Given the description of an element on the screen output the (x, y) to click on. 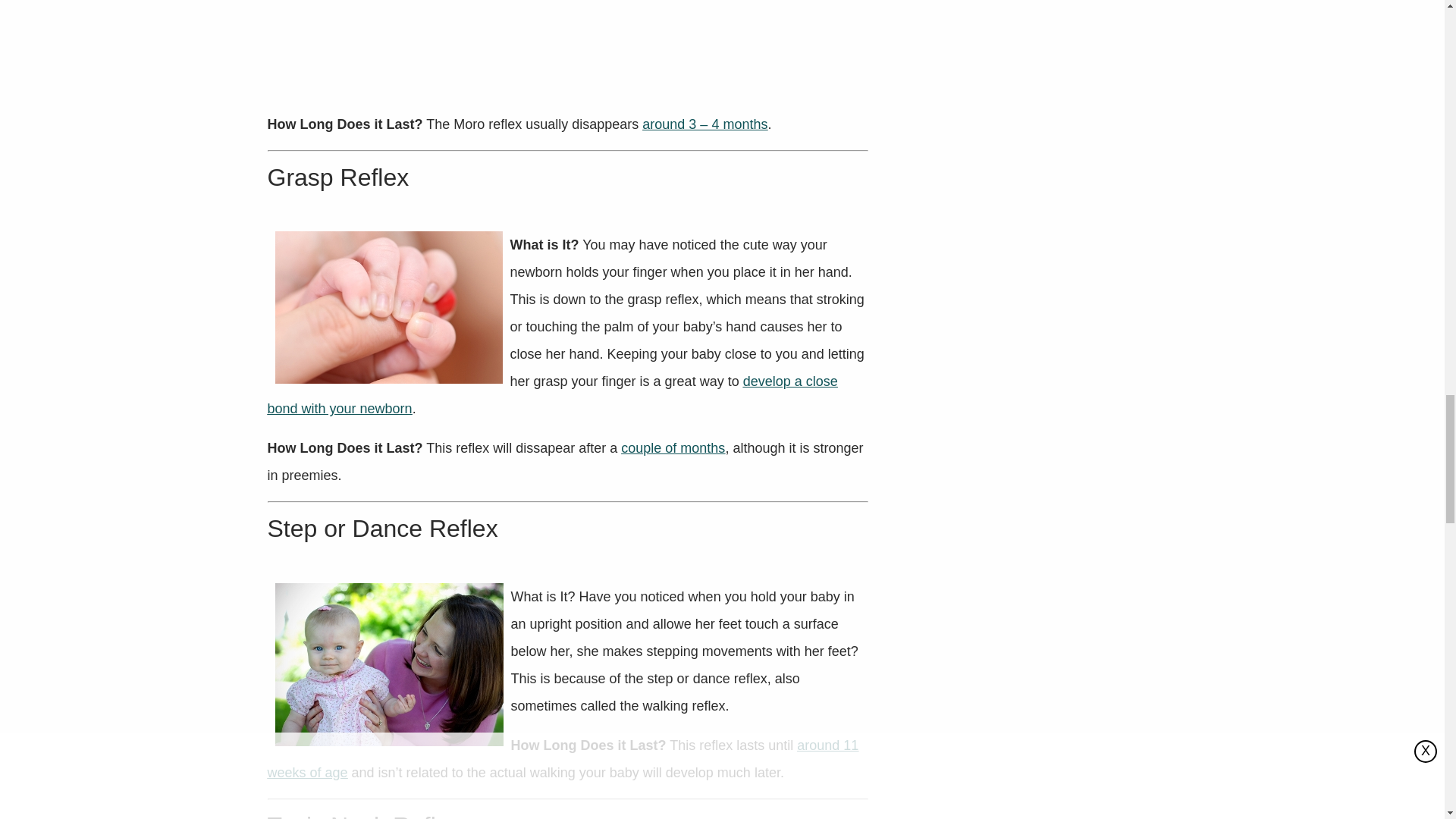
couple of months (673, 447)
Step Reflex - Newborn Reflexes (388, 664)
around 11 weeks of age (562, 758)
develop a close bond with your newborn (551, 394)
Grasp Reflex - Newborn Reflexes (388, 307)
3rd party ad content (566, 49)
